Given the description of an element on the screen output the (x, y) to click on. 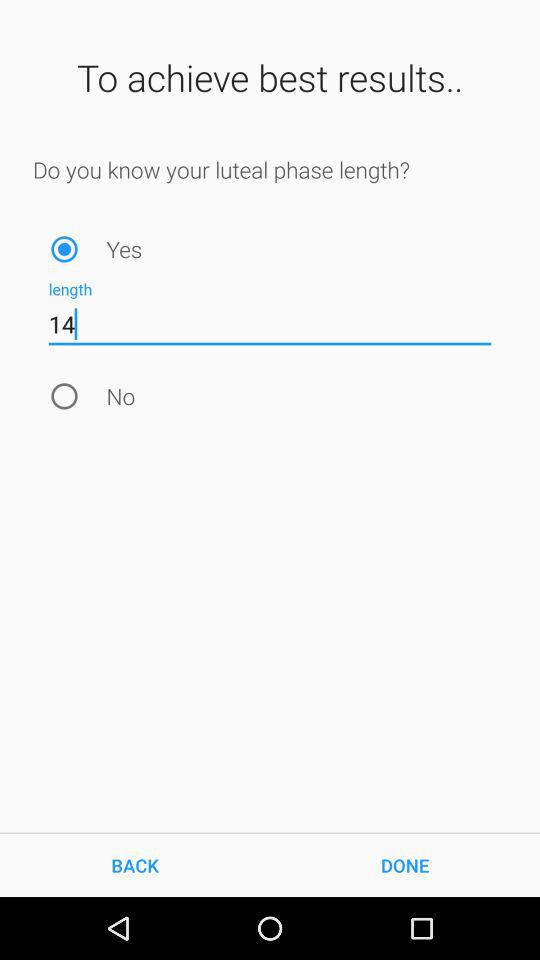
select the back at the bottom left corner (135, 864)
